Given the description of an element on the screen output the (x, y) to click on. 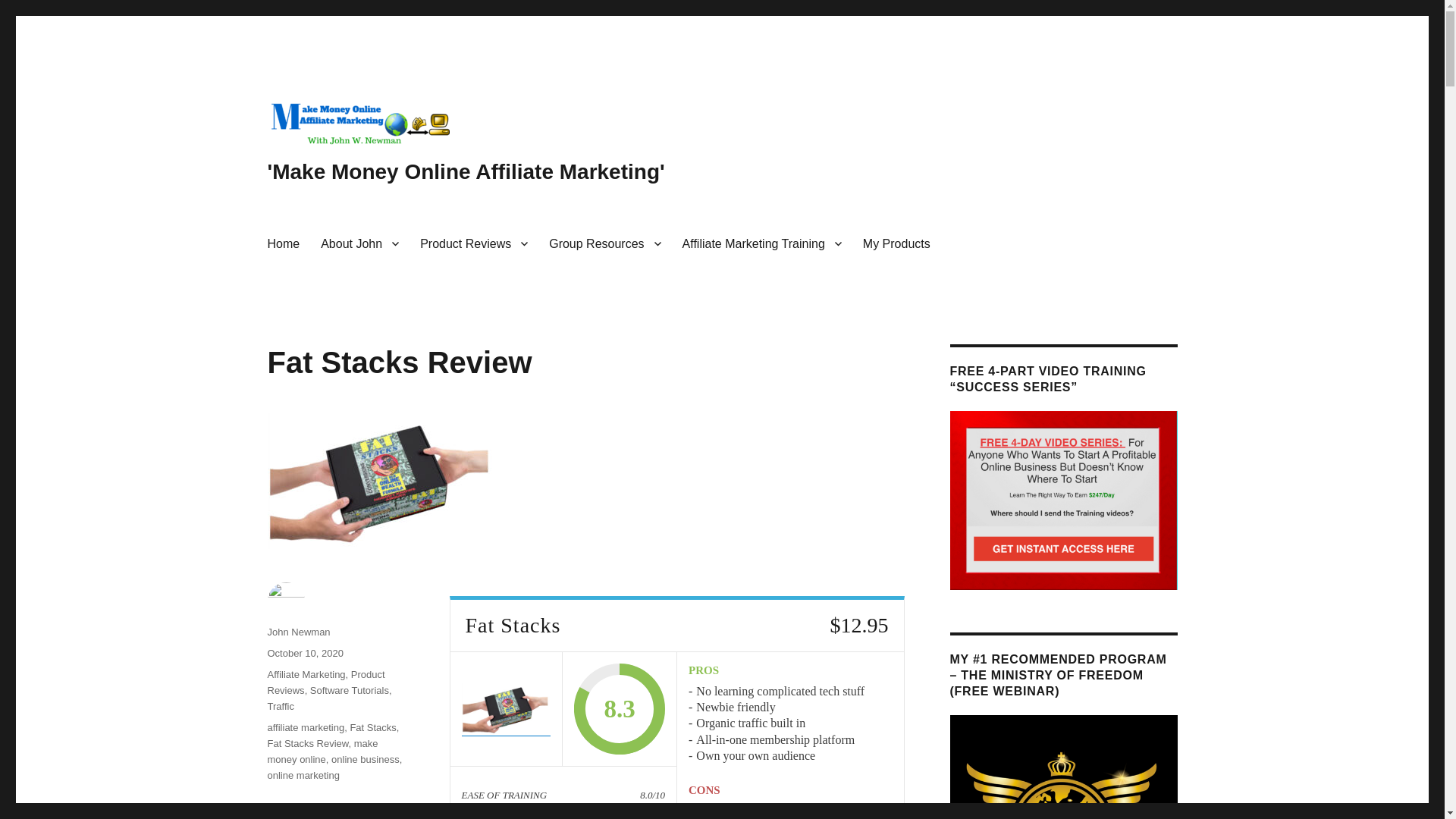
Fat Stacks (505, 708)
Group Resources (604, 243)
My Products (895, 243)
Affiliate Marketing Training (761, 243)
Home (283, 243)
Product Reviews (473, 243)
'Make Money Online Affiliate Marketing' (464, 171)
About John (359, 243)
